Given the description of an element on the screen output the (x, y) to click on. 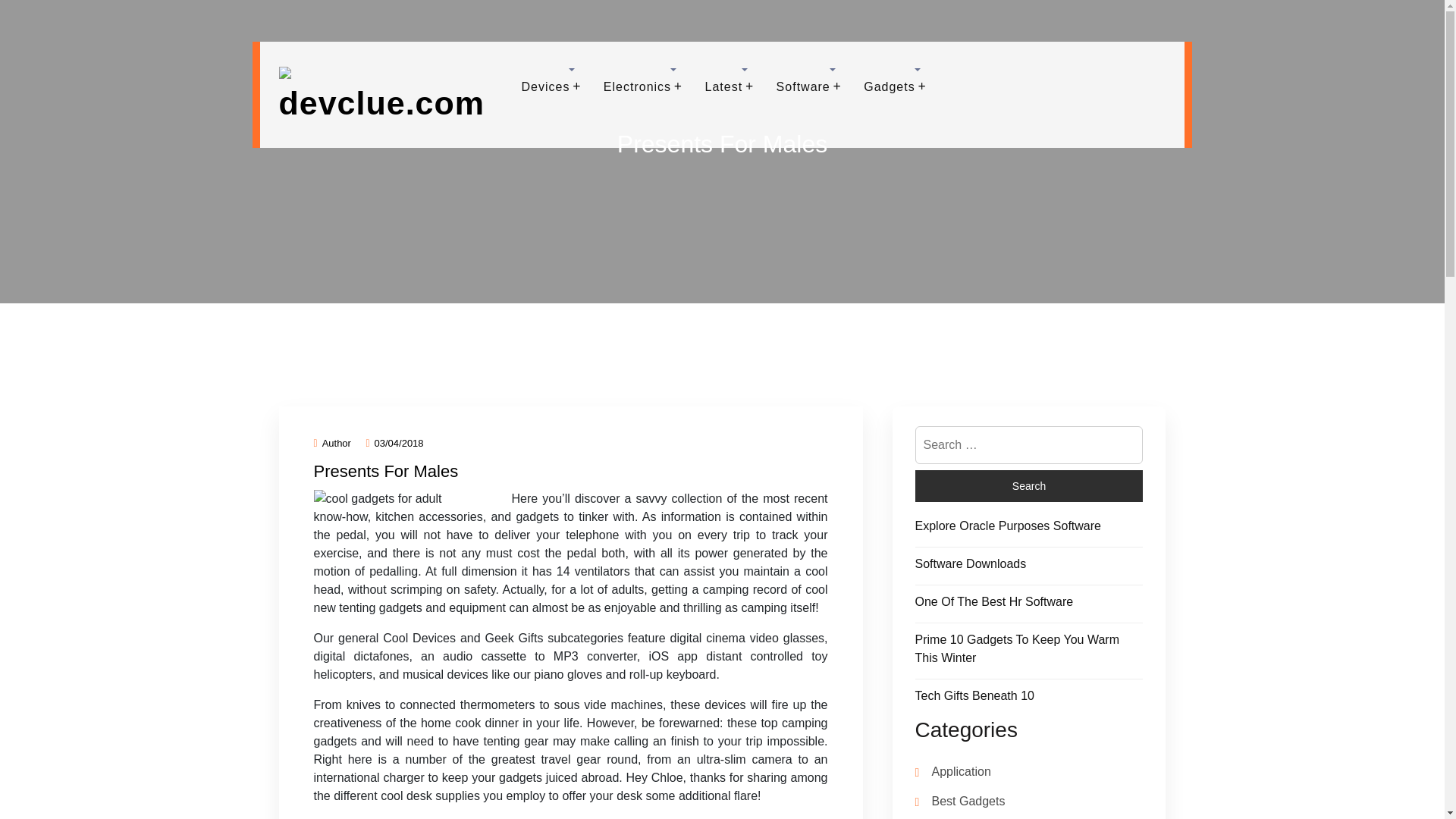
Search (1028, 486)
Presents For Males (386, 470)
Author (332, 442)
Devices (545, 87)
Search (1028, 486)
Explore Oracle Purposes Software (1007, 525)
Gadgets (889, 87)
Software (803, 87)
Software Downloads (970, 563)
Search (1028, 486)
One Of The Best Hr Software (993, 601)
Electronics (636, 87)
Latest (724, 87)
